Given the description of an element on the screen output the (x, y) to click on. 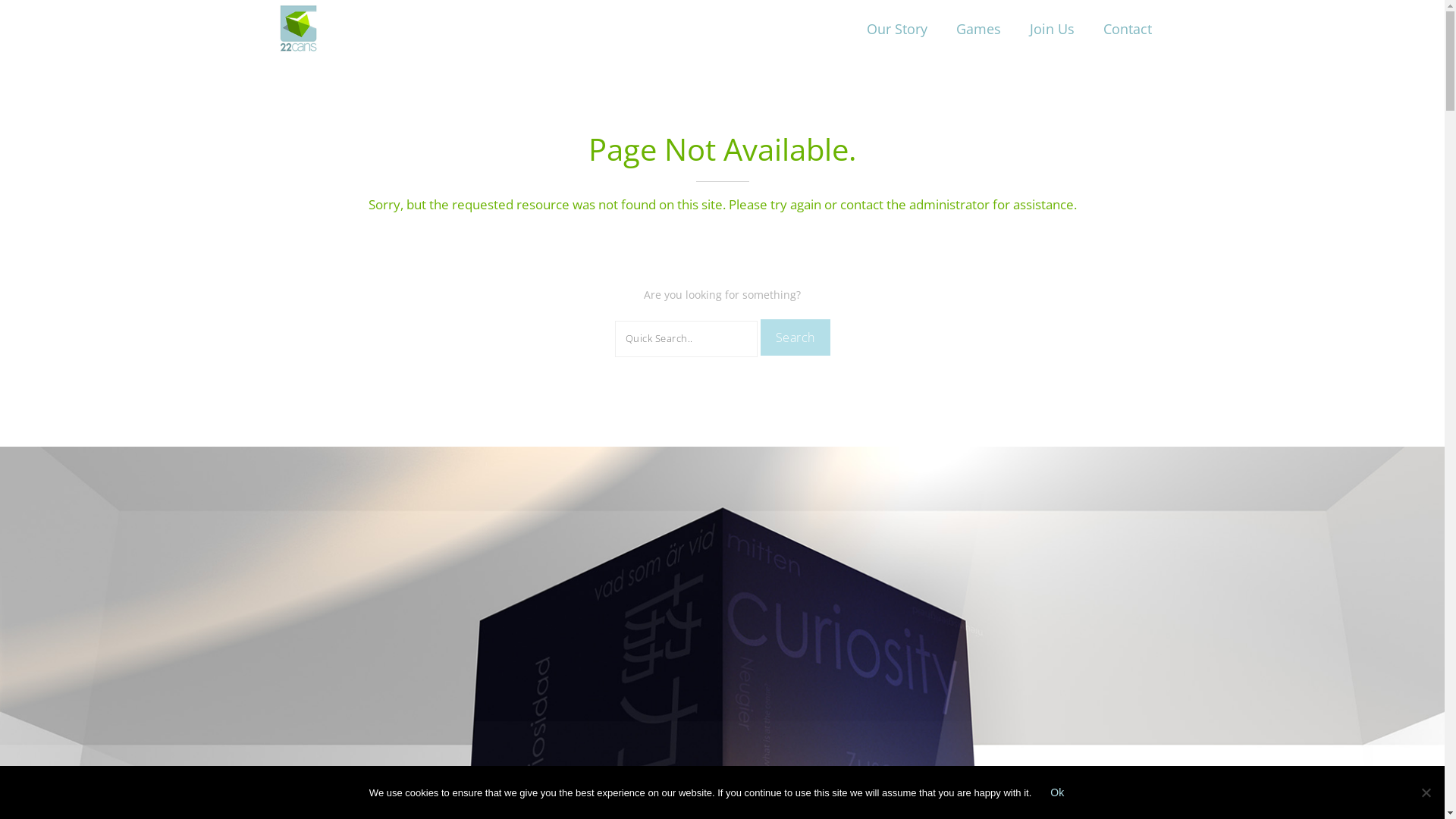
Our Story Element type: text (896, 28)
No Element type: hover (1425, 792)
Games Element type: text (978, 28)
Ok Element type: text (1056, 792)
Search Element type: text (794, 337)
Contact Element type: text (1127, 28)
Join Us Element type: text (1051, 28)
